Given the description of an element on the screen output the (x, y) to click on. 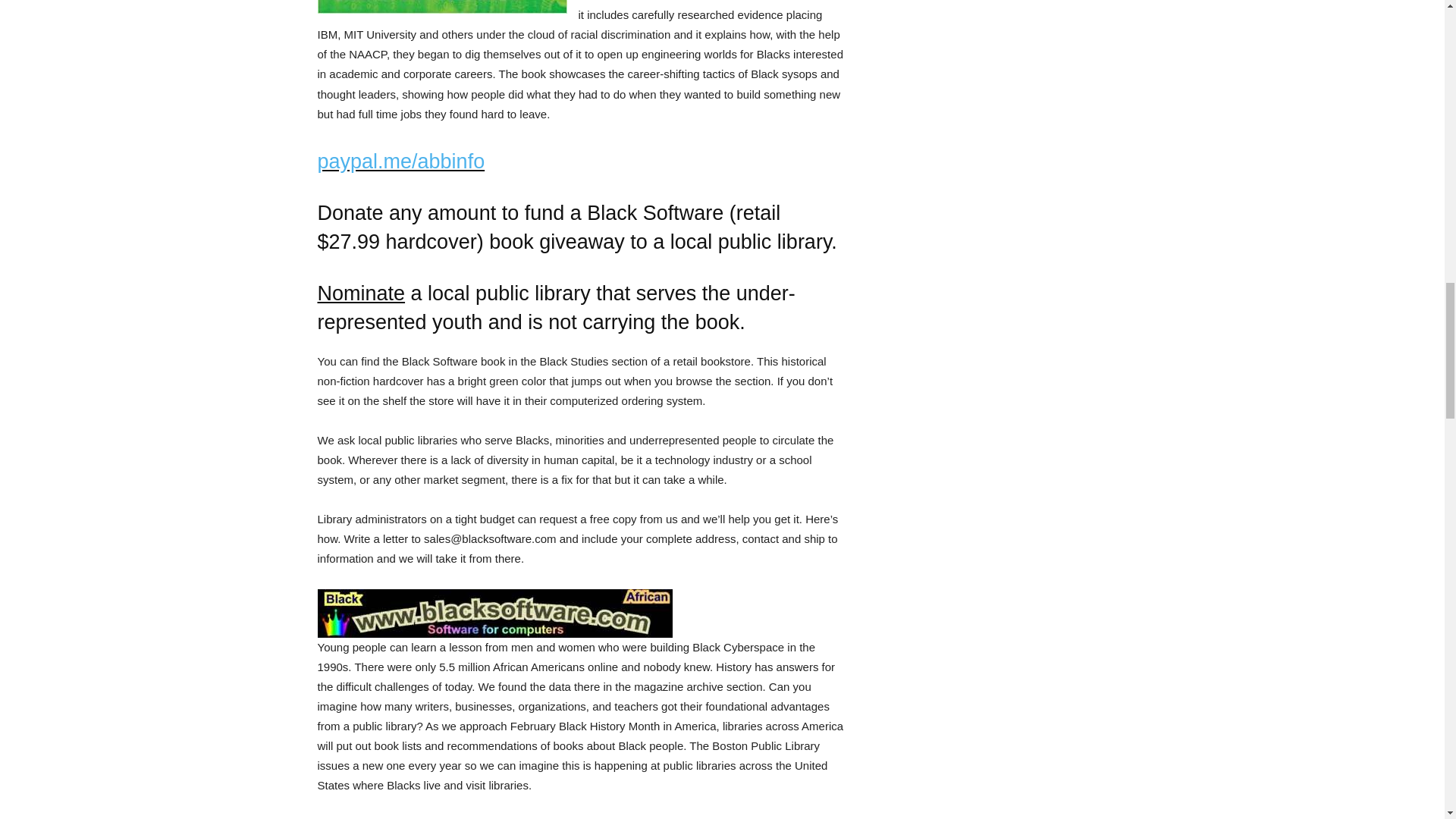
The Black Software book for public libraries (580, 613)
